Given the description of an element on the screen output the (x, y) to click on. 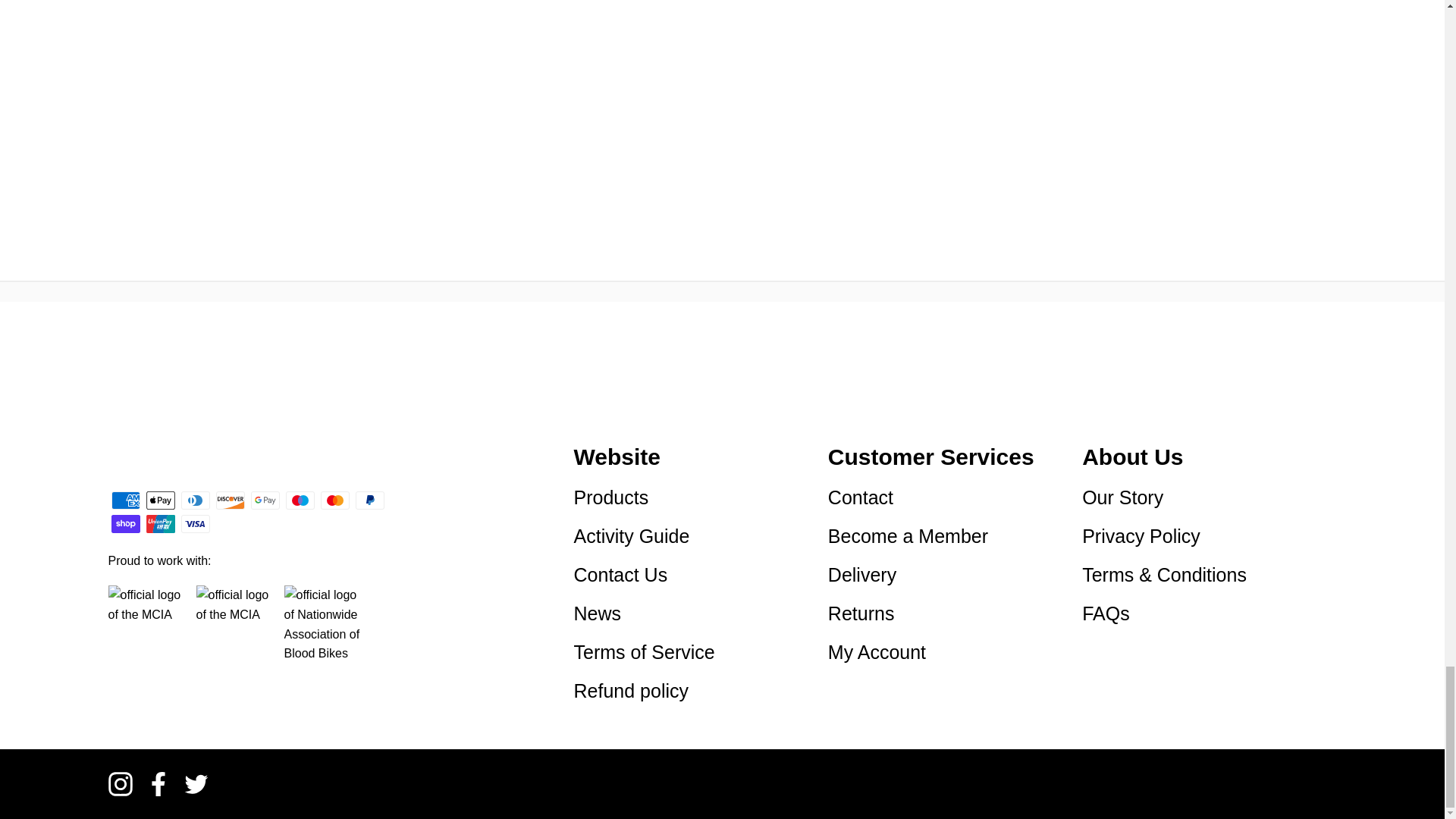
Zerofit UK on Twitter (195, 784)
Discover (229, 500)
PayPal (369, 500)
American Express (124, 500)
Zerofit UK on Instagram (119, 784)
MCIA Official Logo (232, 623)
MCIA Official Logo (145, 623)
Google Pay (264, 500)
Diners Club (194, 500)
Zerofit UK on Facebook (157, 784)
Maestro (299, 500)
Apple Pay (159, 500)
Nationwide Association of Blood Bikes Official Logo (321, 623)
Mastercard (334, 500)
